Given the description of an element on the screen output the (x, y) to click on. 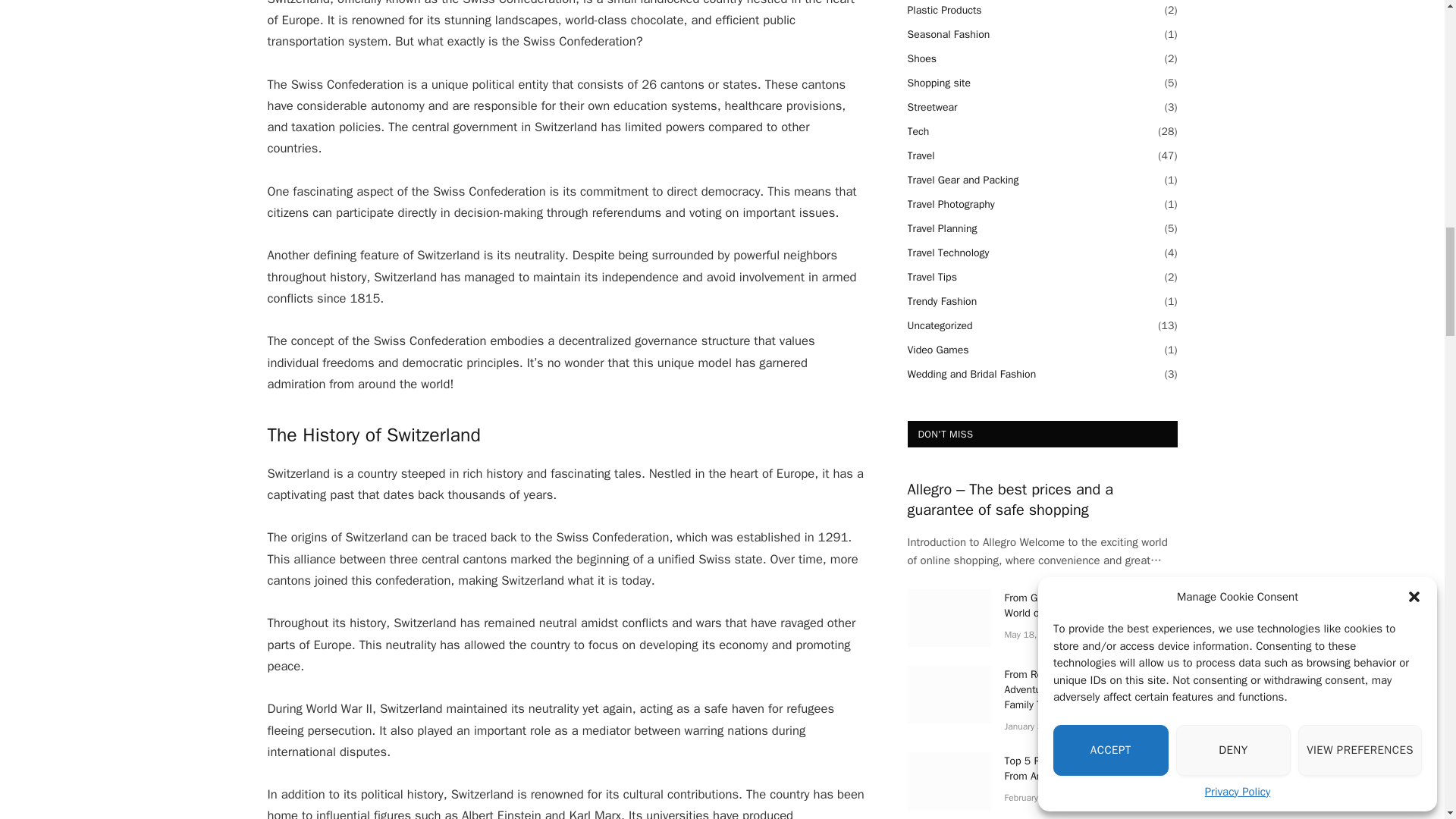
Top 5 Reasons Why Consumers Buy From Amazon (948, 780)
